Given the description of an element on the screen output the (x, y) to click on. 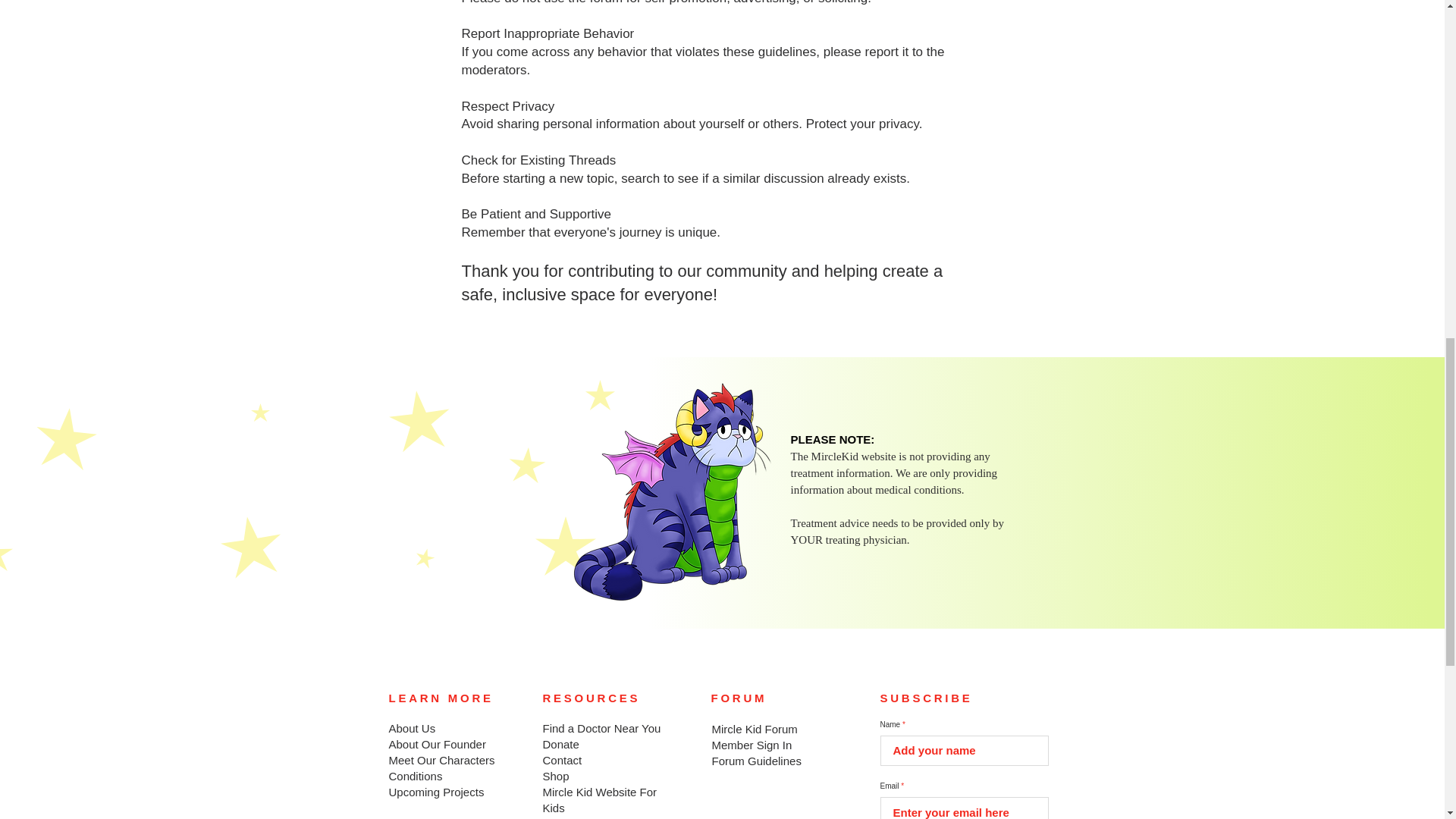
About Our Founder (436, 744)
About Us (411, 727)
Mircle Kid Website For Kids (600, 799)
Donate (561, 744)
Shop (556, 775)
Conditions (415, 775)
Find a Doctor Near You (602, 727)
Meet Our Characters (441, 759)
Upcoming Projects (435, 791)
Contact (562, 759)
